Given the description of an element on the screen output the (x, y) to click on. 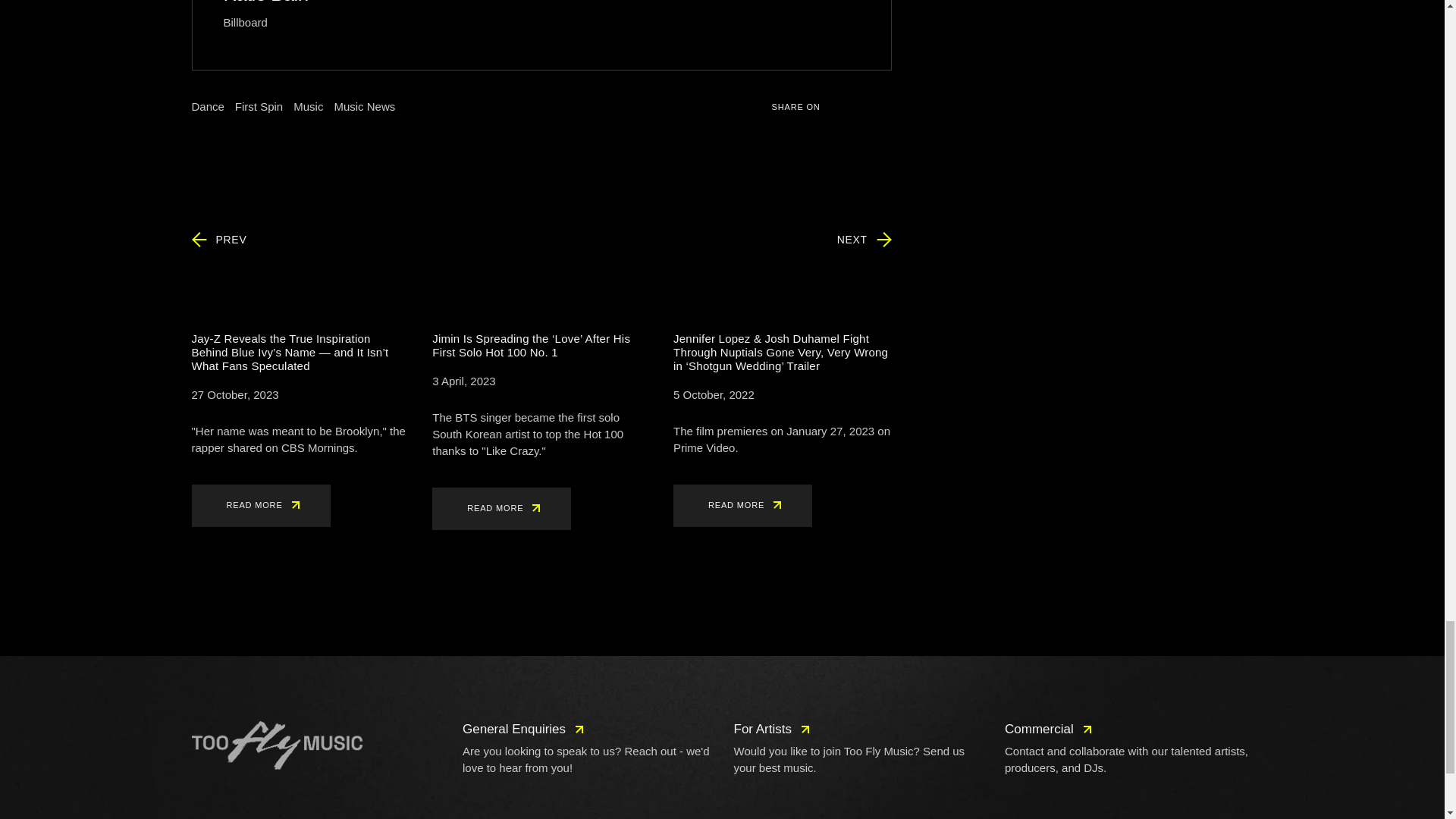
Title Text:  (463, 381)
Title Text:  (234, 394)
Read other posts by Katie Bain (264, 2)
Title Text:  (713, 394)
